Given the description of an element on the screen output the (x, y) to click on. 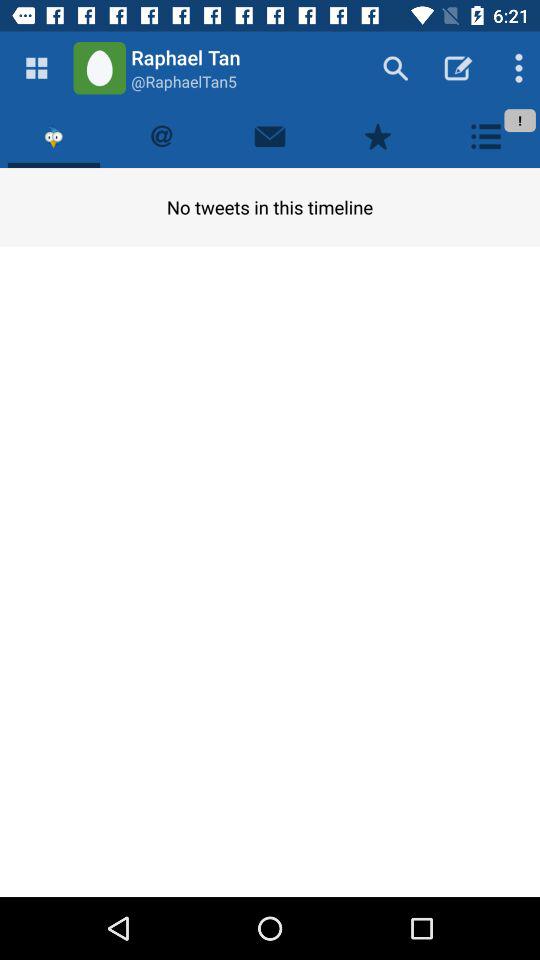
messages (270, 136)
